Given the description of an element on the screen output the (x, y) to click on. 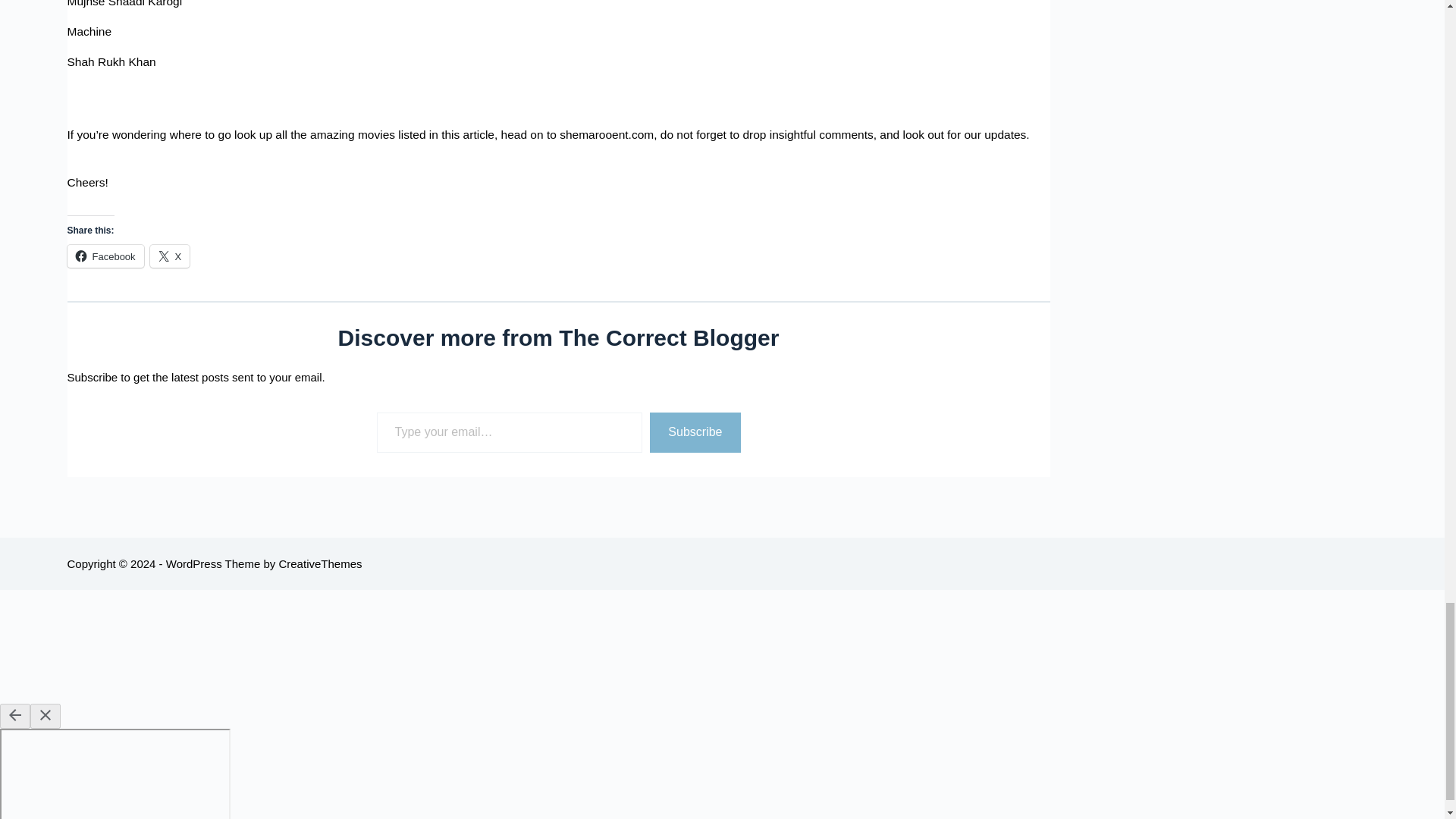
CreativeThemes (319, 563)
Subscribe (694, 432)
Please fill in this field. (508, 432)
X (169, 255)
Facebook (104, 255)
Click to share on X (169, 255)
Click to share on Facebook (104, 255)
